Given the description of an element on the screen output the (x, y) to click on. 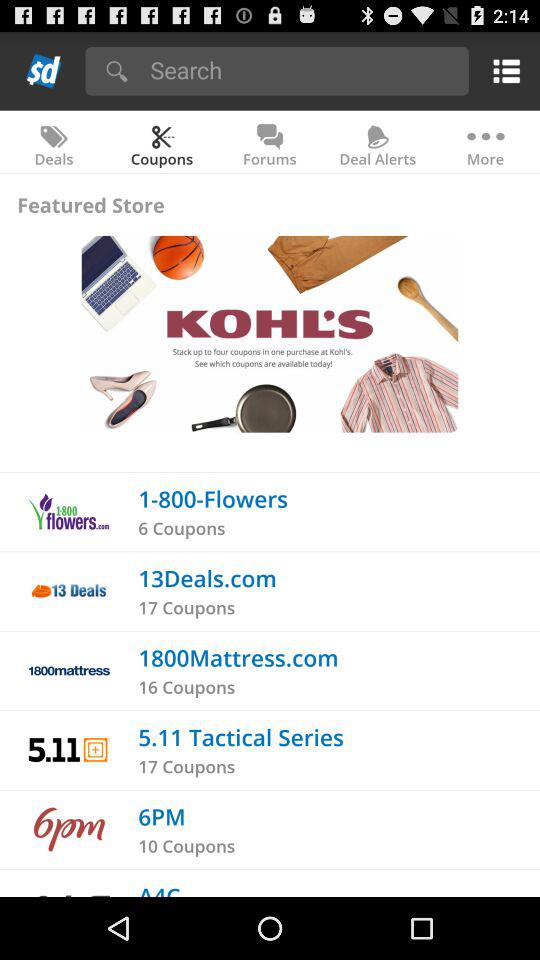
tap the 10 coupons (186, 845)
